Given the description of an element on the screen output the (x, y) to click on. 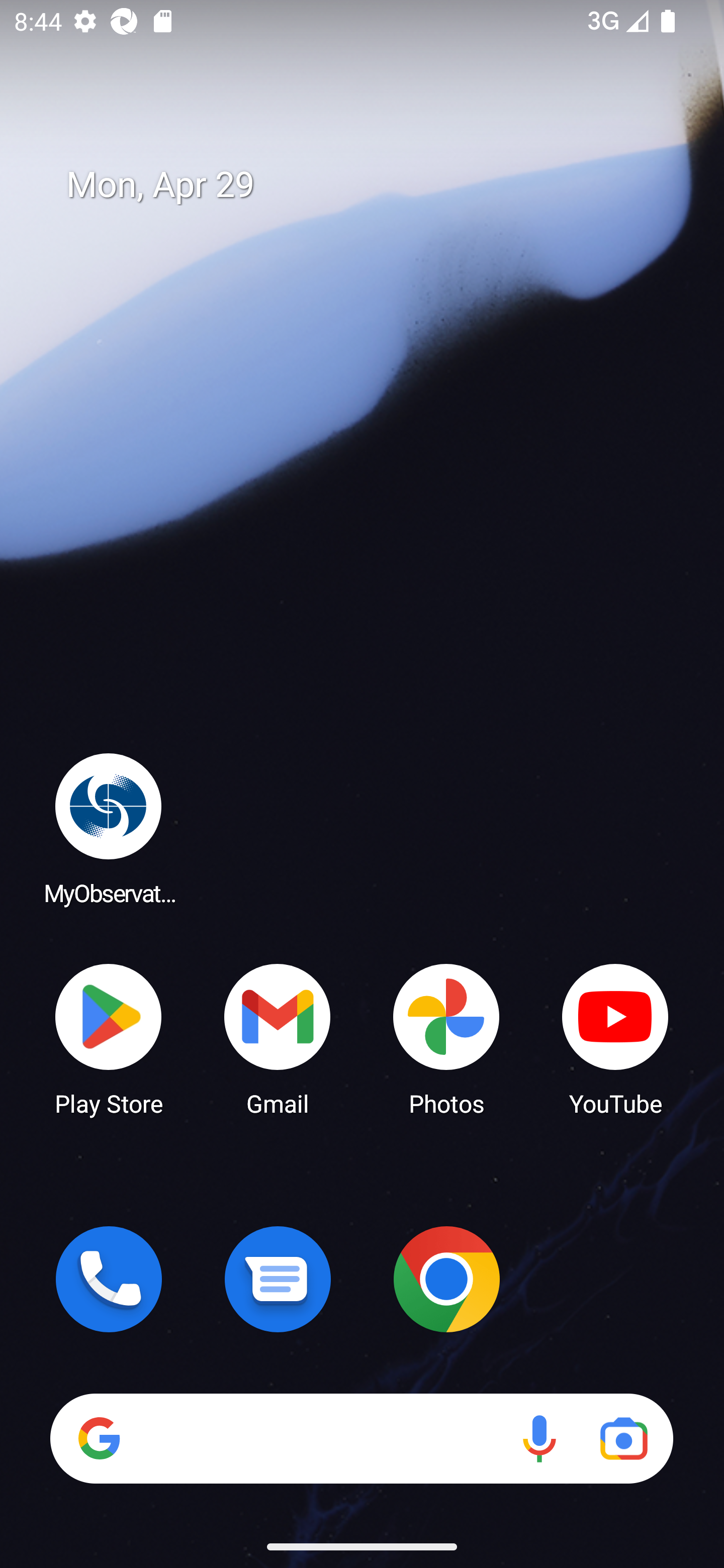
Mon, Apr 29 (375, 184)
MyObservatory (108, 828)
Play Store (108, 1038)
Gmail (277, 1038)
Photos (445, 1038)
YouTube (615, 1038)
Phone (108, 1279)
Messages (277, 1279)
Chrome (446, 1279)
Voice search (539, 1438)
Google Lens (623, 1438)
